Given the description of an element on the screen output the (x, y) to click on. 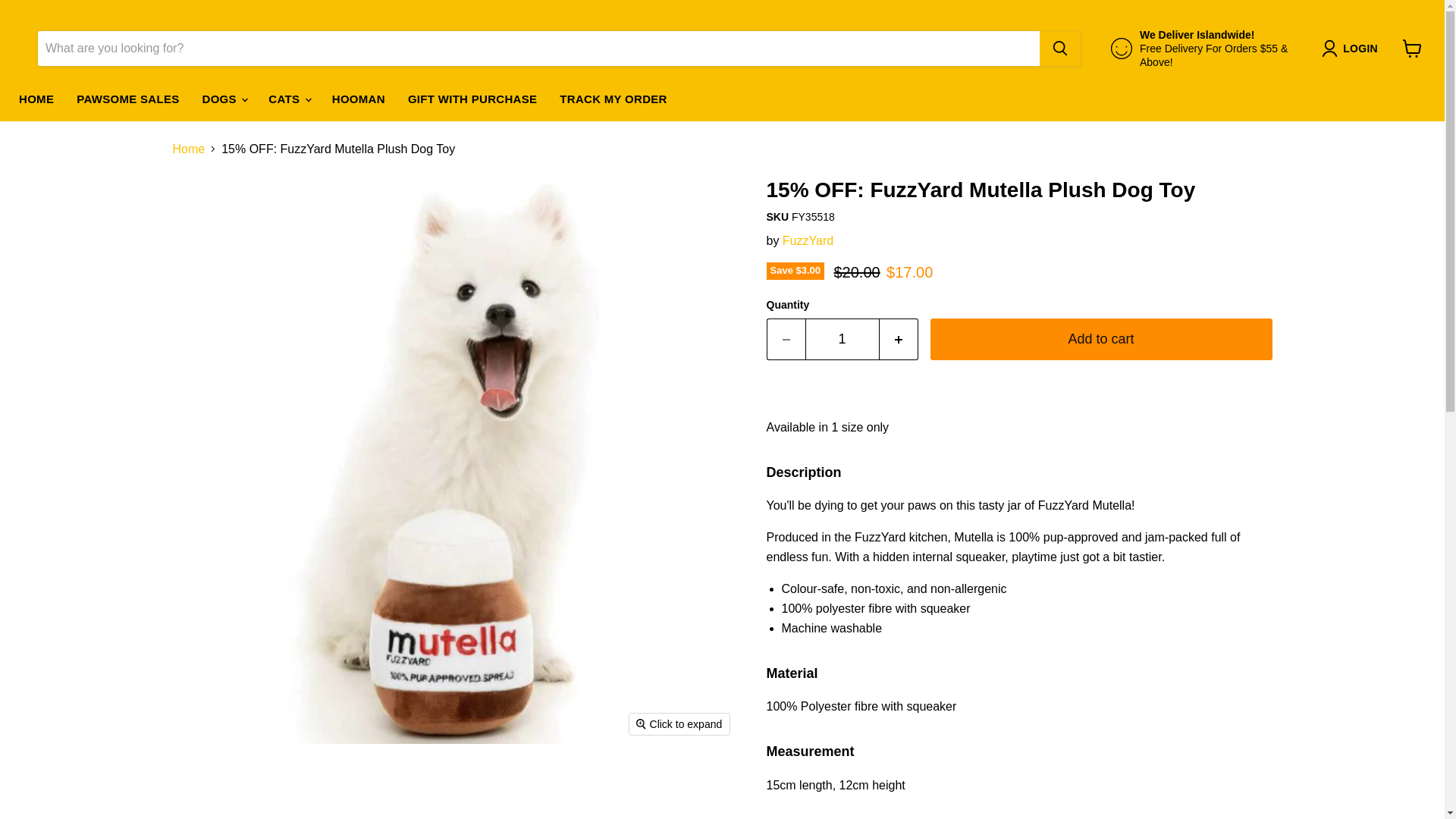
HOME (36, 99)
PAWSOME SALES (127, 99)
View cart (1411, 48)
1 (842, 339)
LOGIN (1353, 48)
FuzzYard (807, 240)
